Given the description of an element on the screen output the (x, y) to click on. 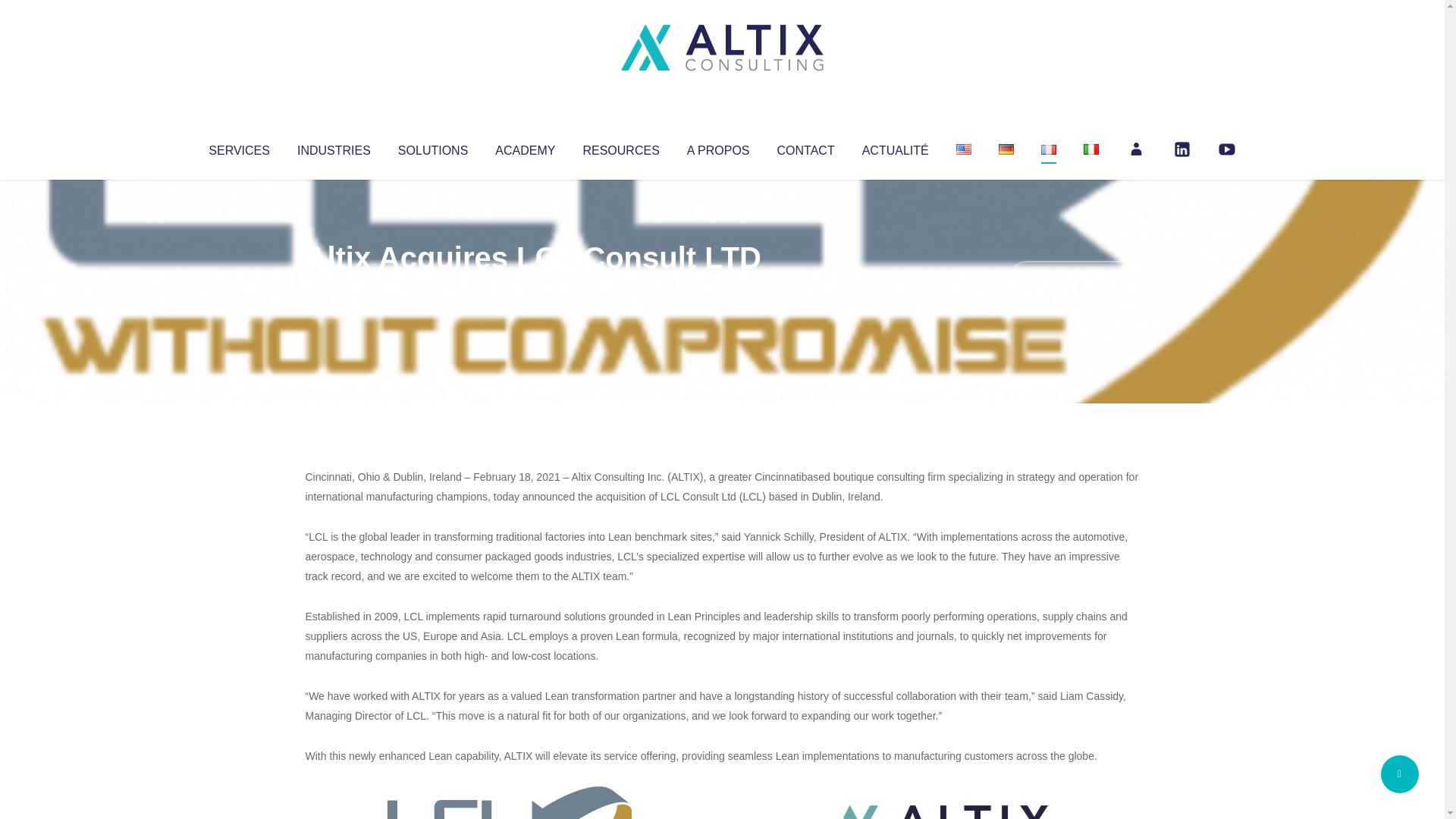
Articles par Altix (333, 287)
A PROPOS (718, 146)
SERVICES (238, 146)
No Comments (1073, 278)
ACADEMY (524, 146)
SOLUTIONS (432, 146)
Uncategorized (530, 287)
INDUSTRIES (334, 146)
RESOURCES (620, 146)
Altix (333, 287)
